Given the description of an element on the screen output the (x, y) to click on. 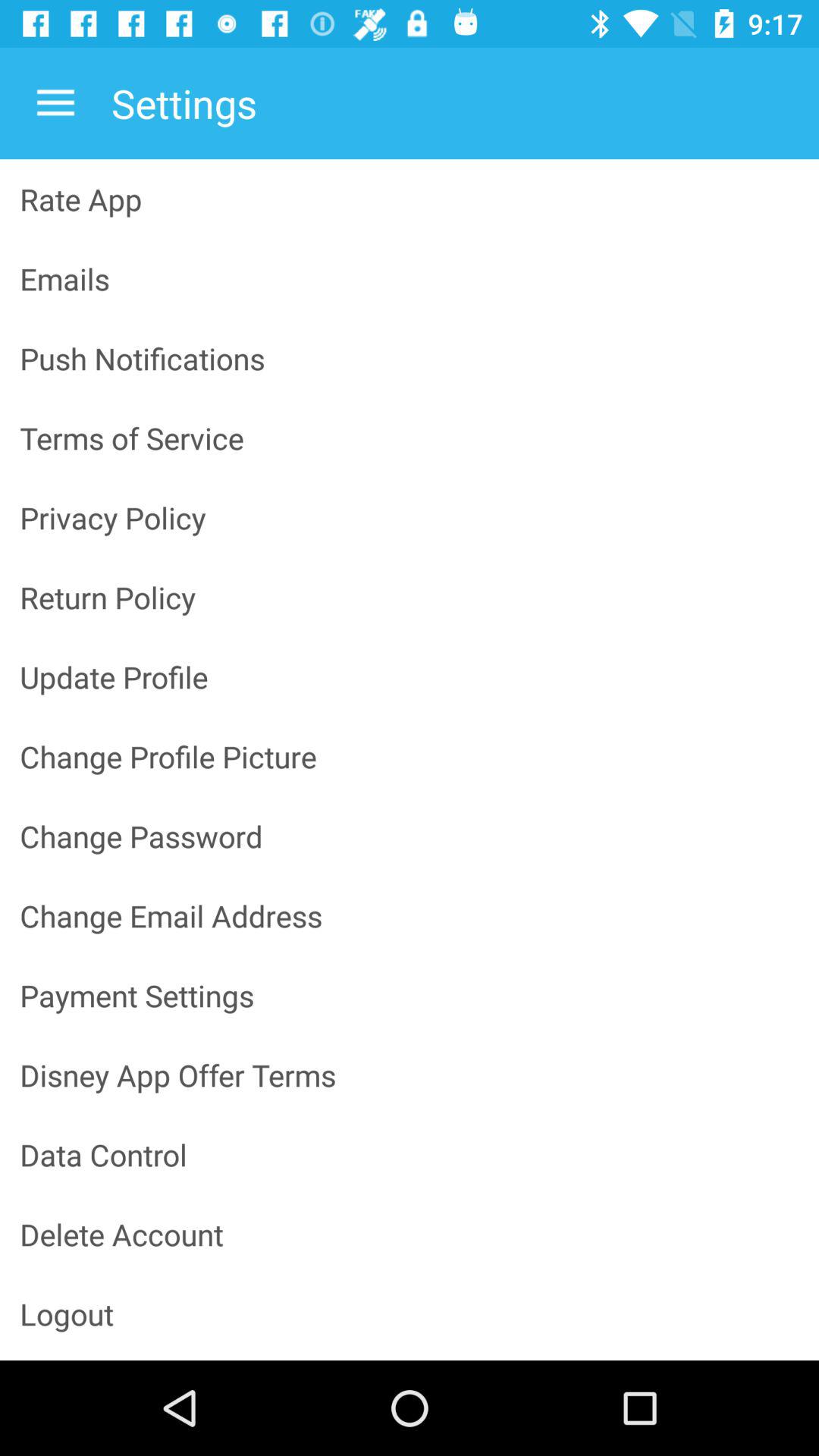
choose the item above the terms of service item (409, 358)
